Given the description of an element on the screen output the (x, y) to click on. 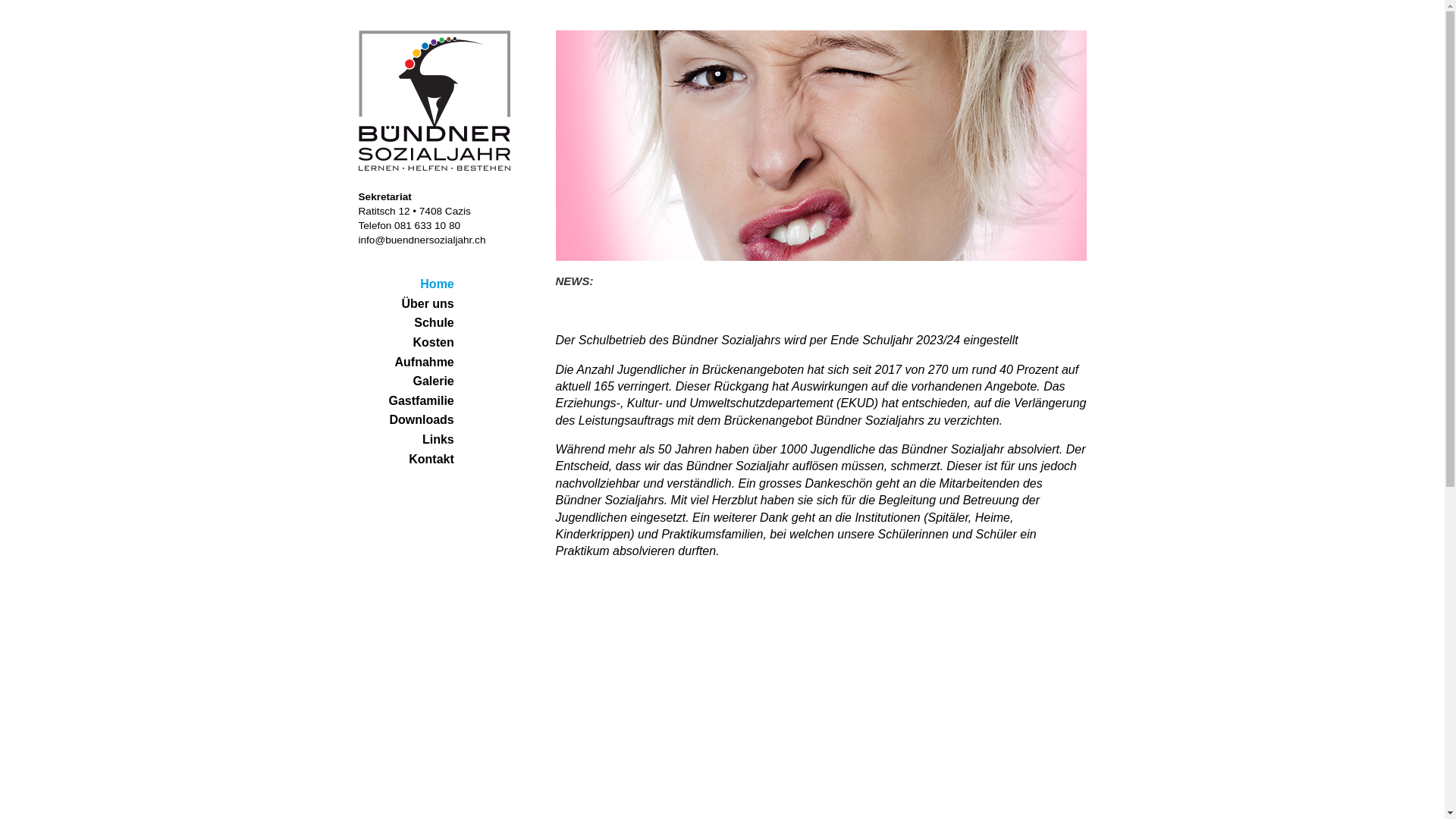
Gastfamilie Element type: text (420, 400)
Downloads Element type: text (421, 419)
Kosten Element type: text (433, 341)
Aufnahme Element type: text (424, 361)
Home Element type: text (436, 283)
Kontakt Element type: text (431, 457)
Links Element type: text (438, 439)
info@buendnersozialjahr.ch Element type: text (421, 239)
Galerie Element type: text (432, 380)
Schule Element type: text (433, 322)
